Given the description of an element on the screen output the (x, y) to click on. 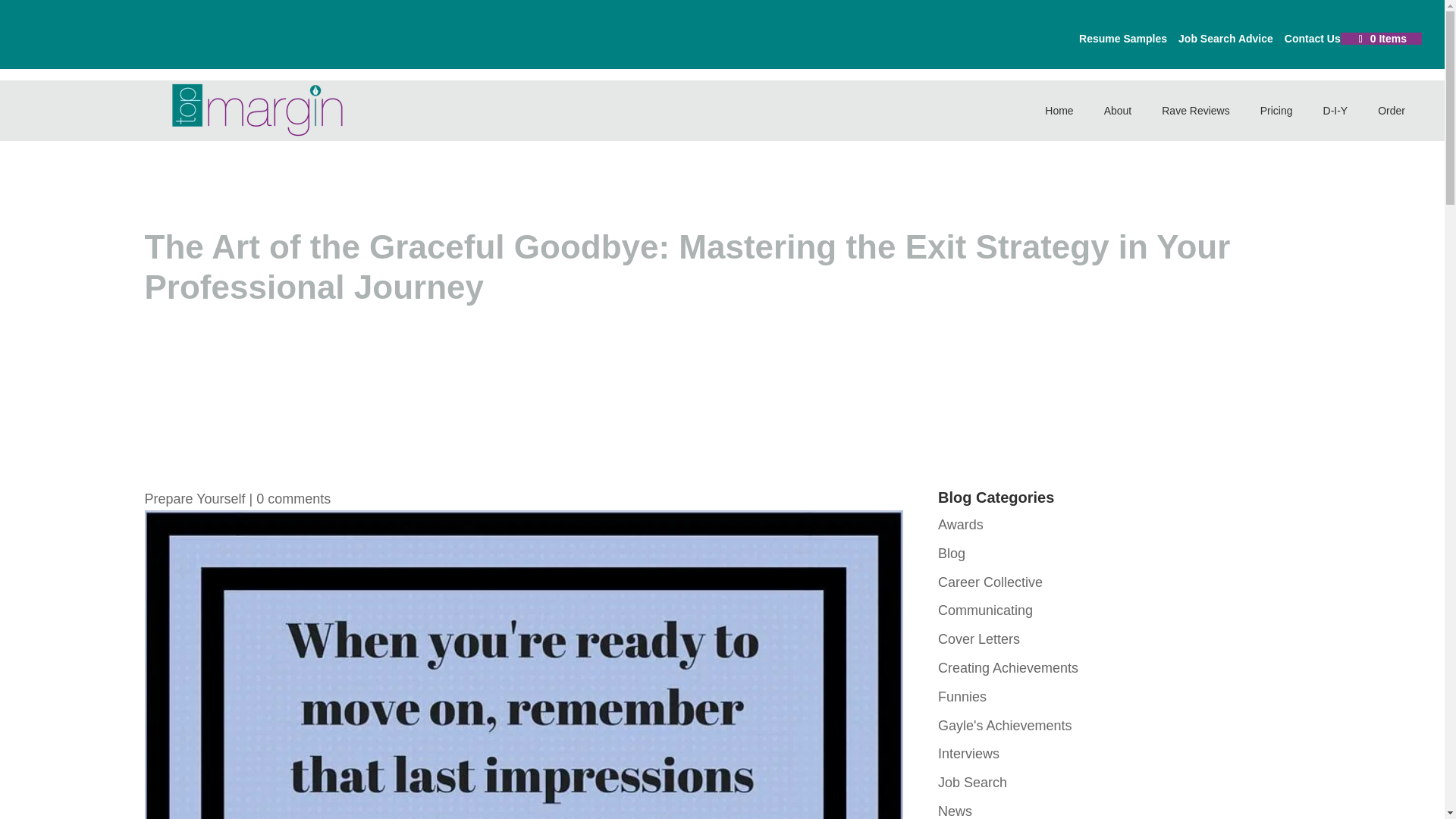
D-I-Y (1334, 110)
Rave Reviews (1195, 110)
Job Search Advice (1224, 42)
Creating Achievements (1007, 667)
Job Search (972, 782)
Career Collective (989, 581)
Interviews (967, 753)
Order (1391, 110)
News (954, 811)
About (1118, 110)
